Given the description of an element on the screen output the (x, y) to click on. 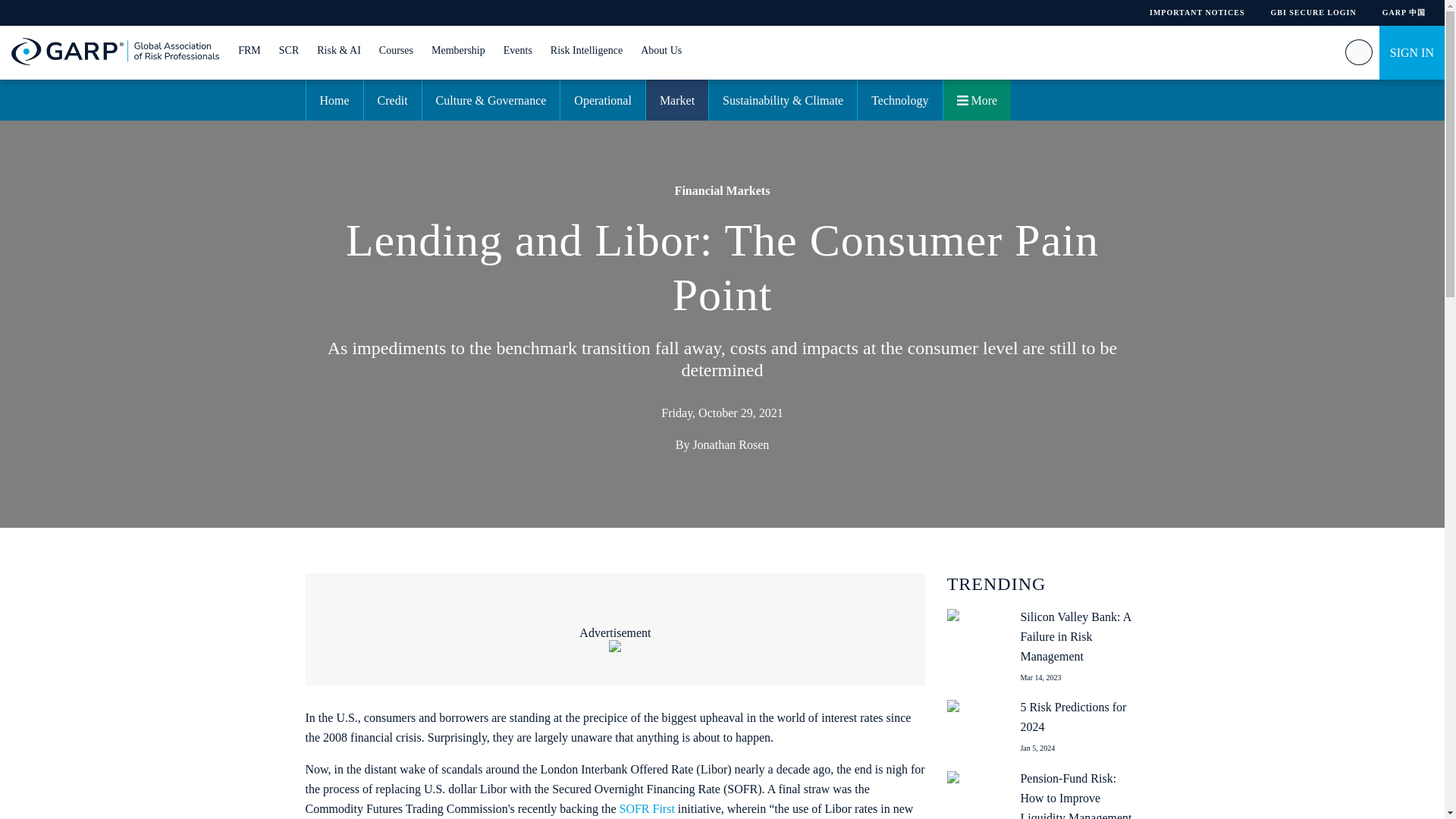
IMPORTANT NOTICES (1197, 12)
GBI SECURE LOGIN (1312, 12)
